Given the description of an element on the screen output the (x, y) to click on. 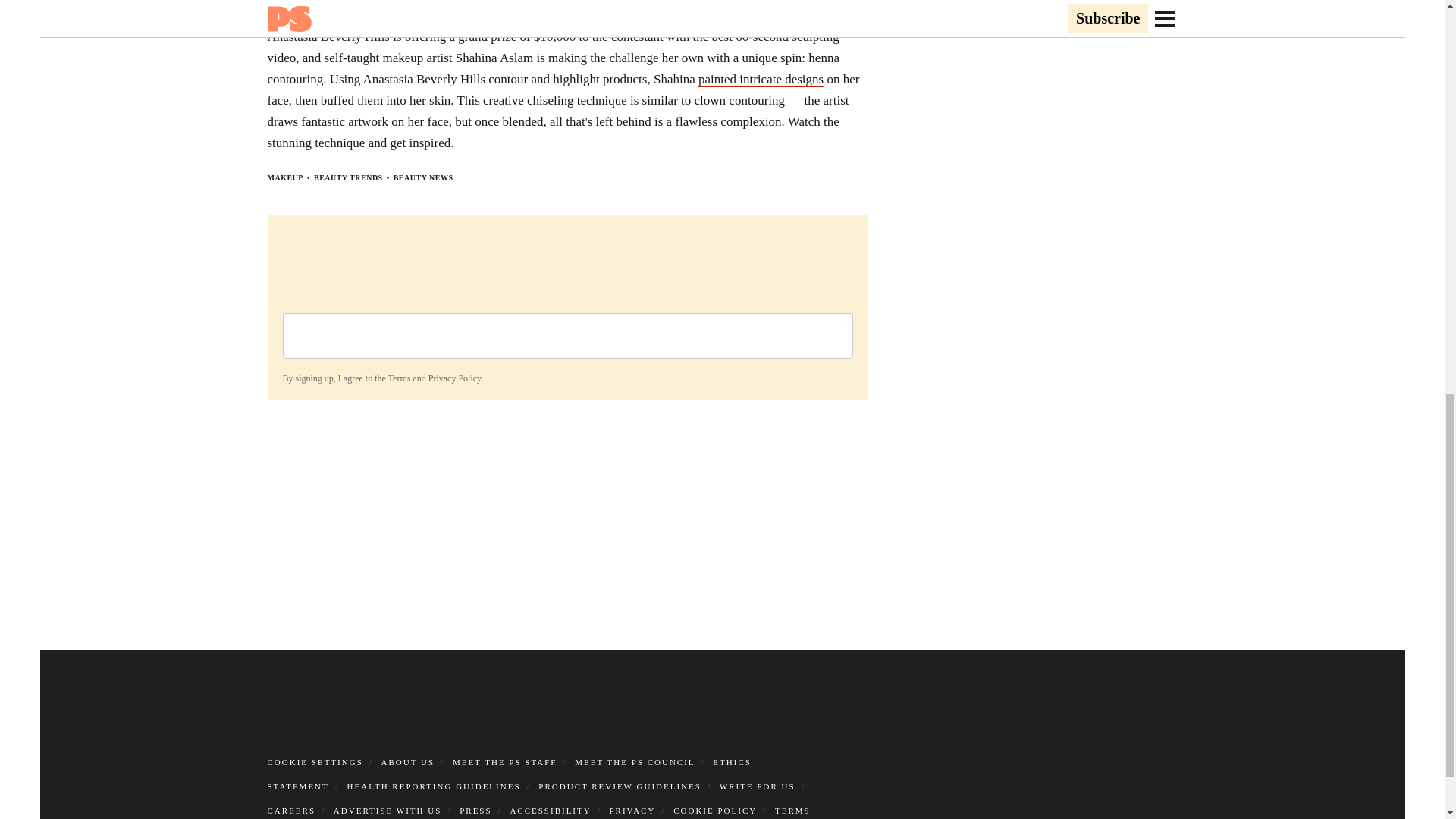
MAKEUP (284, 176)
Privacy Policy. (455, 378)
ACCESSIBILITY (550, 809)
COOKIE POLICY (714, 809)
MEET THE PS STAFF (504, 761)
ETHICS STATEMENT (508, 773)
BEAUTY TRENDS (348, 176)
BEAUTY NEWS (422, 176)
CAREERS (290, 809)
PRODUCT REVIEW GUIDELINES (619, 785)
